Given the description of an element on the screen output the (x, y) to click on. 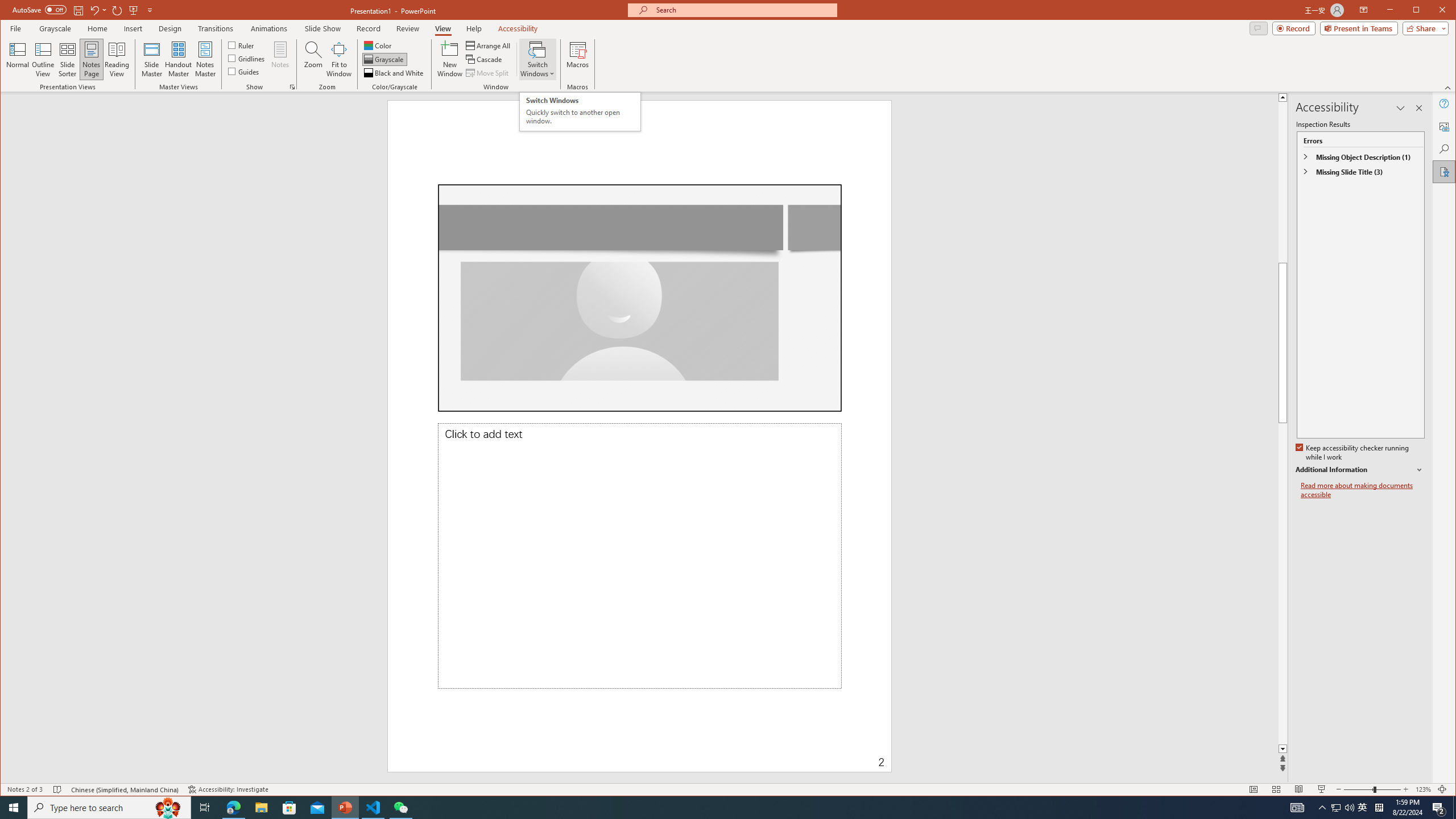
Alt Text (1444, 125)
Notes Master (204, 59)
Page Number (781, 754)
Notes (279, 59)
Action Center, 2 new notifications (1439, 807)
Black and White (394, 72)
Color (378, 45)
